Given the description of an element on the screen output the (x, y) to click on. 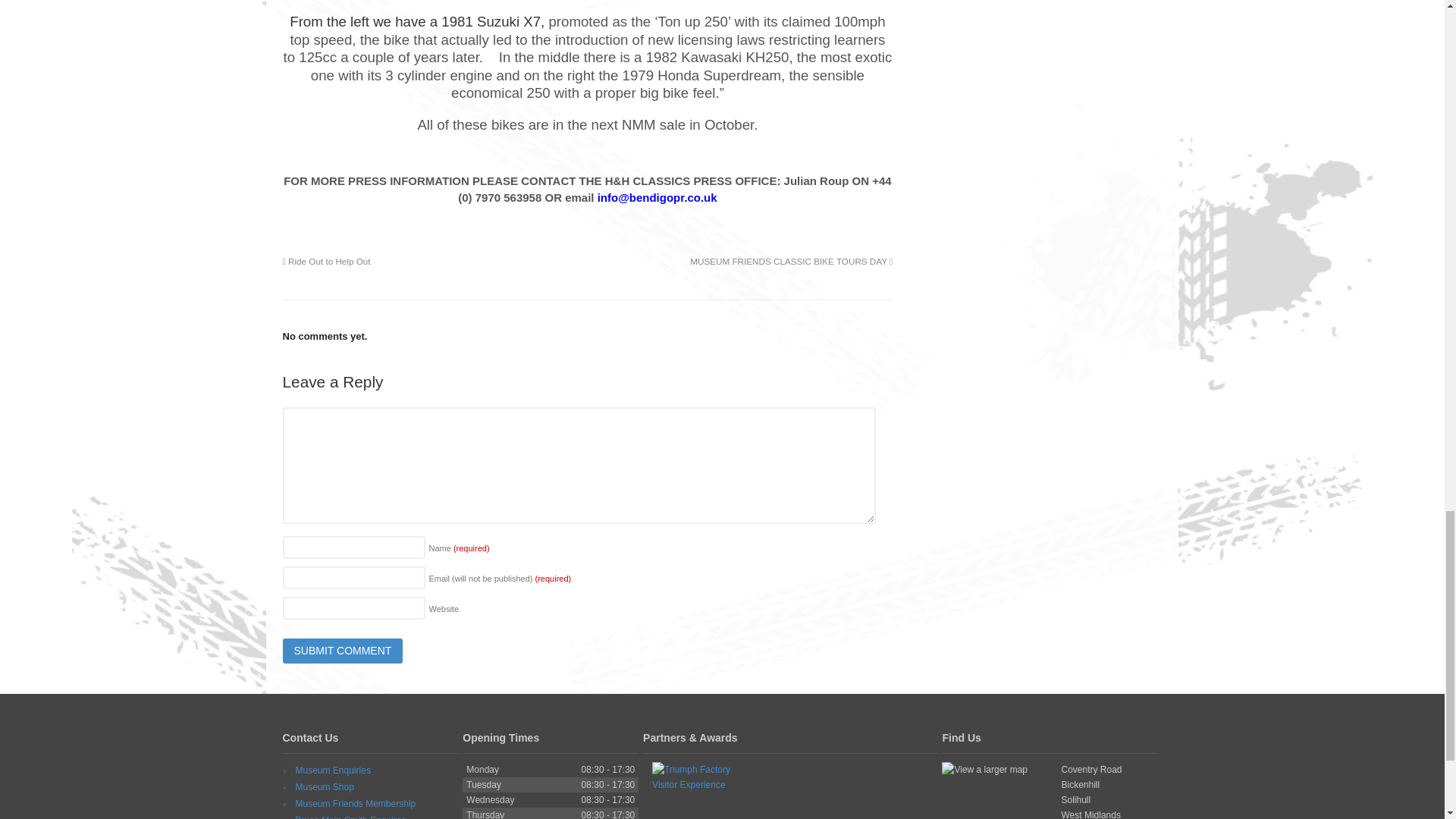
Submit Comment (342, 651)
